Given the description of an element on the screen output the (x, y) to click on. 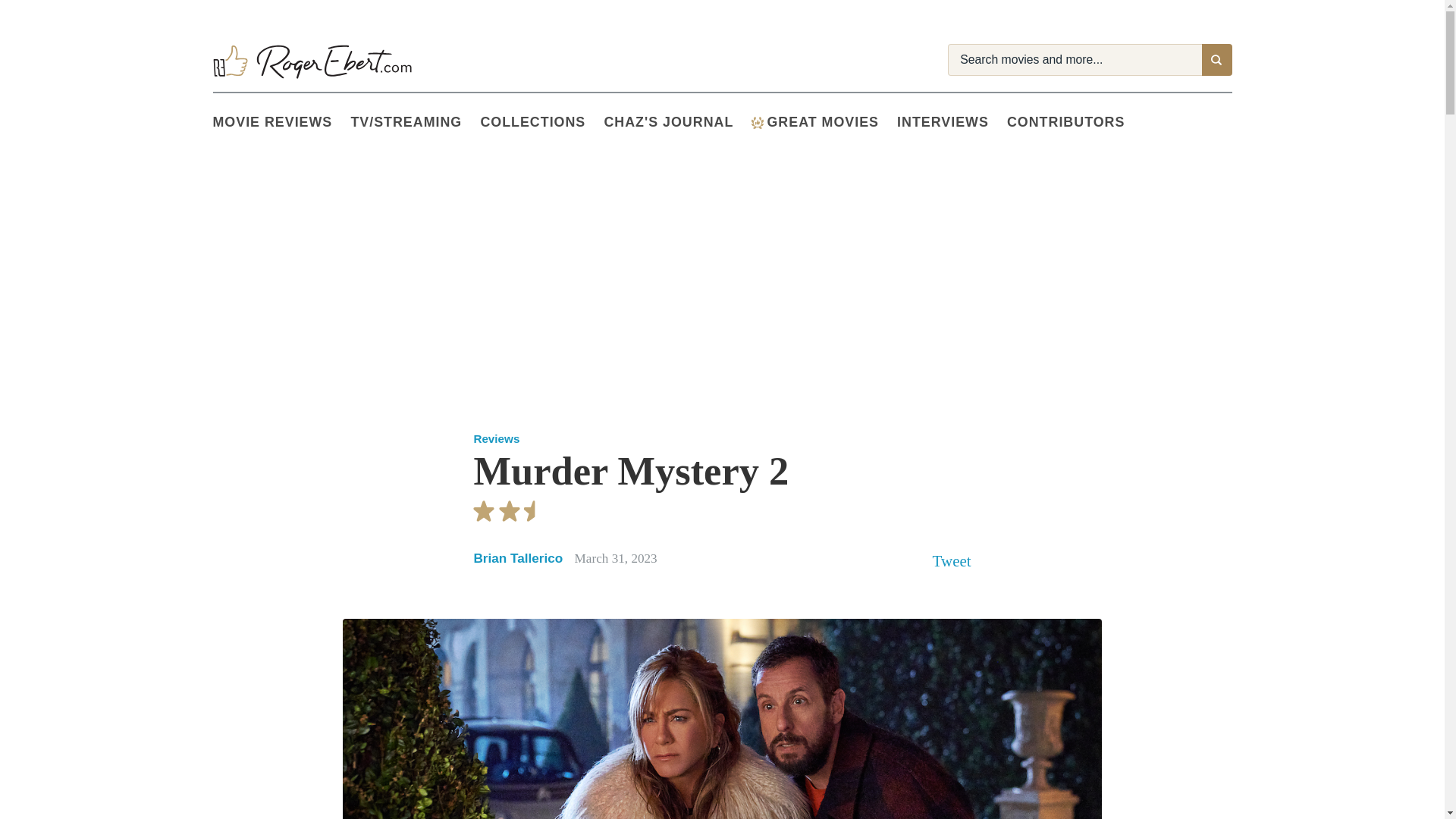
INTERVIEWS (951, 122)
Search (1216, 60)
Contributors (1074, 122)
CHAZ'S JOURNAL (677, 122)
CONTRIBUTORS (1074, 122)
Tweet (952, 561)
star-full (484, 511)
MOVIE REVIEWS (281, 122)
star-full (509, 511)
GREAT MOVIES (823, 122)
Great Movies (756, 122)
Collections (542, 122)
star-half (534, 511)
COLLECTIONS (542, 122)
Movie Reviews (281, 122)
